Given the description of an element on the screen output the (x, y) to click on. 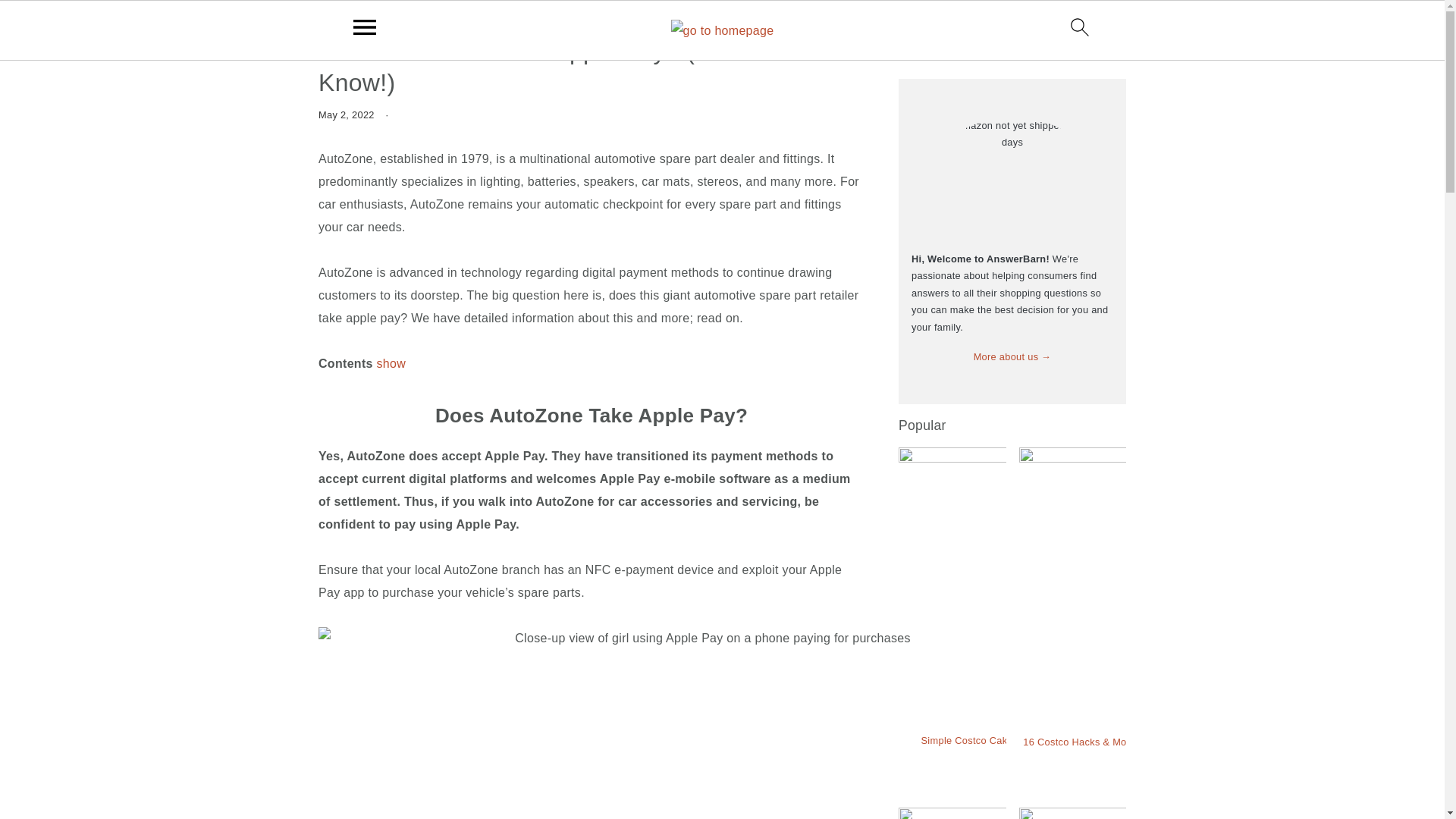
menu icon (365, 26)
show (390, 363)
search icon (1080, 26)
